Given the description of an element on the screen output the (x, y) to click on. 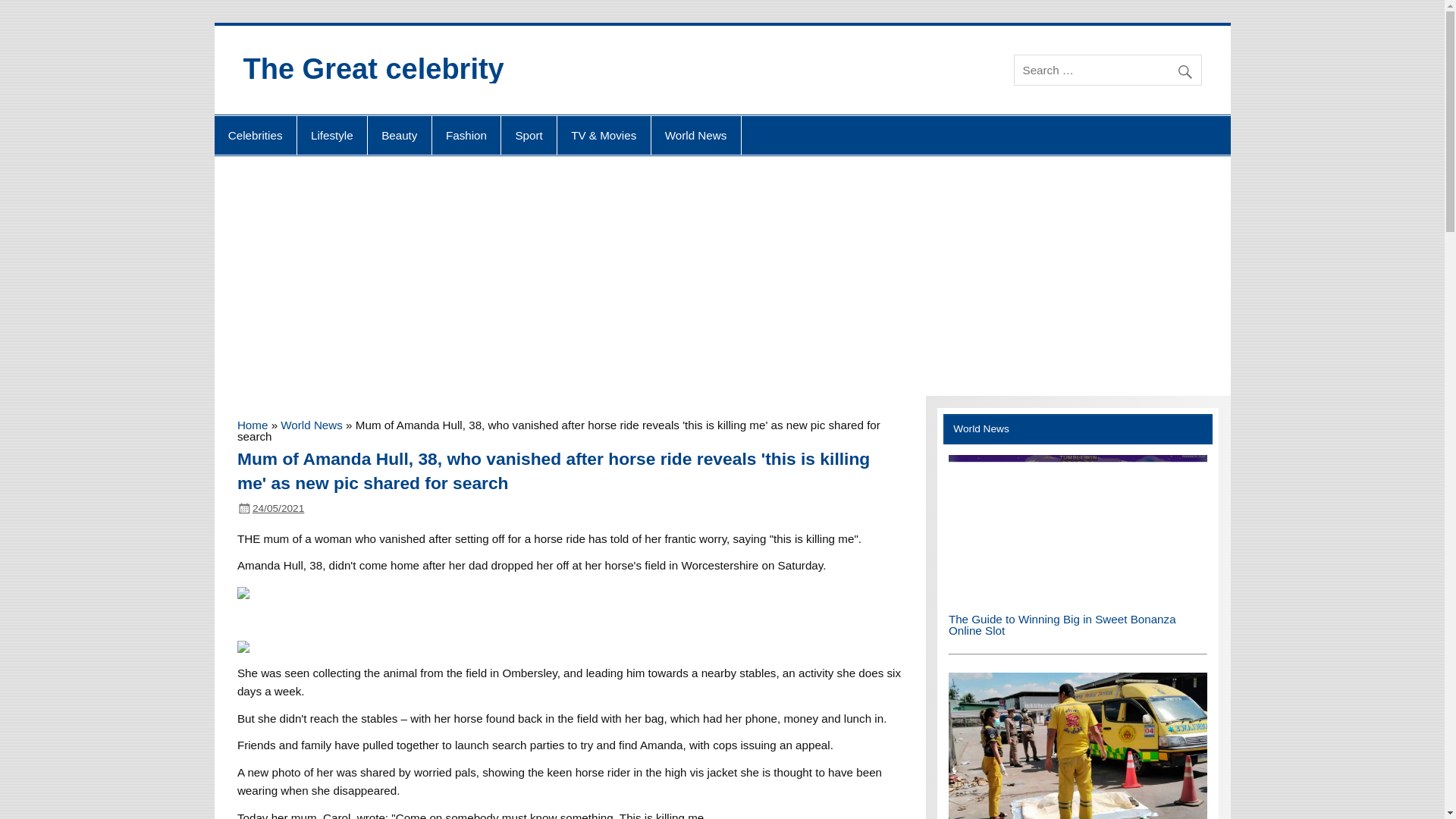
The Great celebrity (373, 69)
Sport (528, 135)
Celebrities (254, 135)
Fashion (466, 135)
World News (695, 135)
Beauty (399, 135)
09:28 (277, 508)
The Guide to Winning Big in Sweet Bonanza Online Slot (1078, 595)
Lifestyle (331, 135)
The Guide to Winning Big in Sweet Bonanza Online Slot (1062, 624)
